Given the description of an element on the screen output the (x, y) to click on. 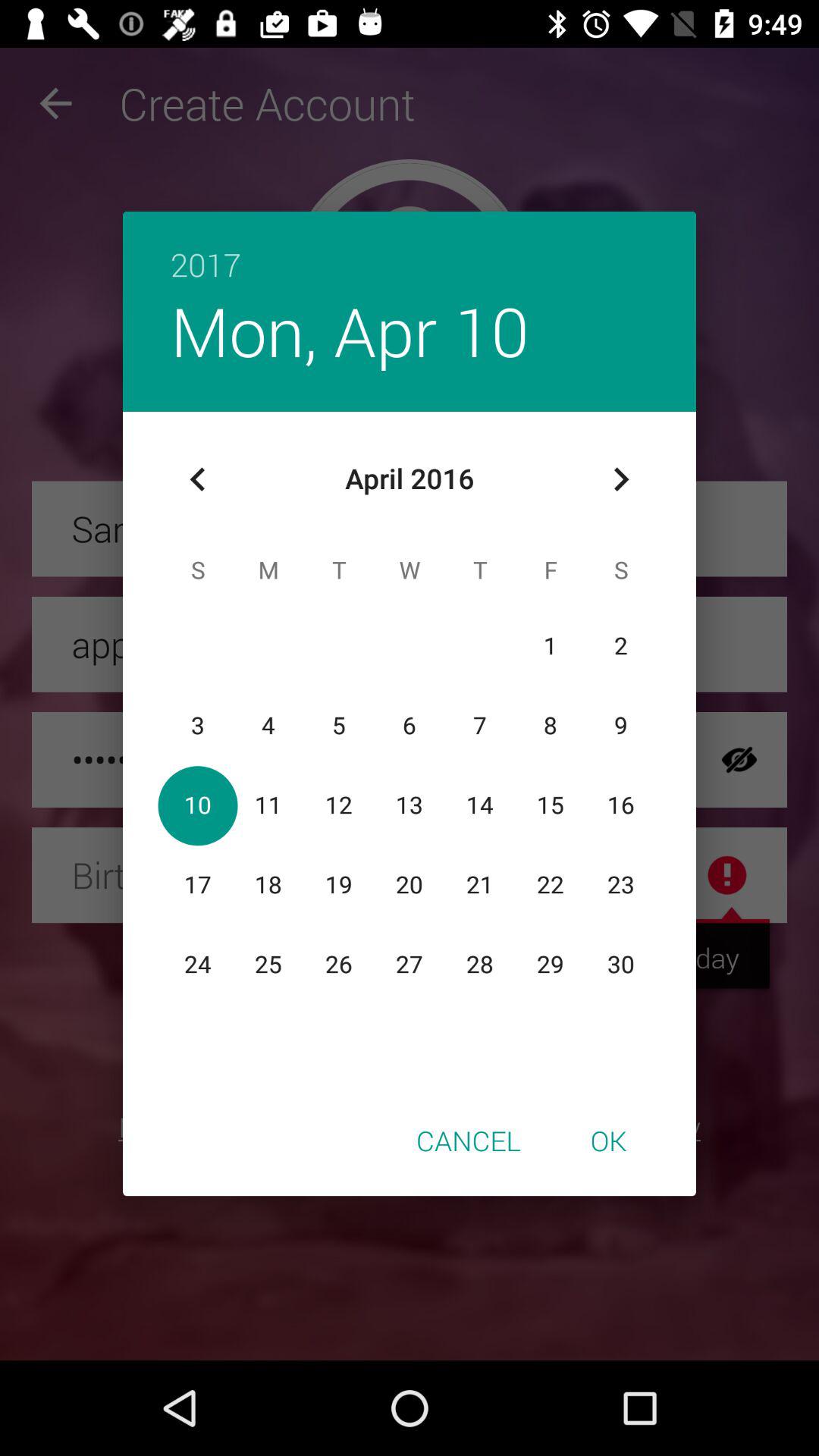
press the icon below the 2017 item (349, 330)
